Given the description of an element on the screen output the (x, y) to click on. 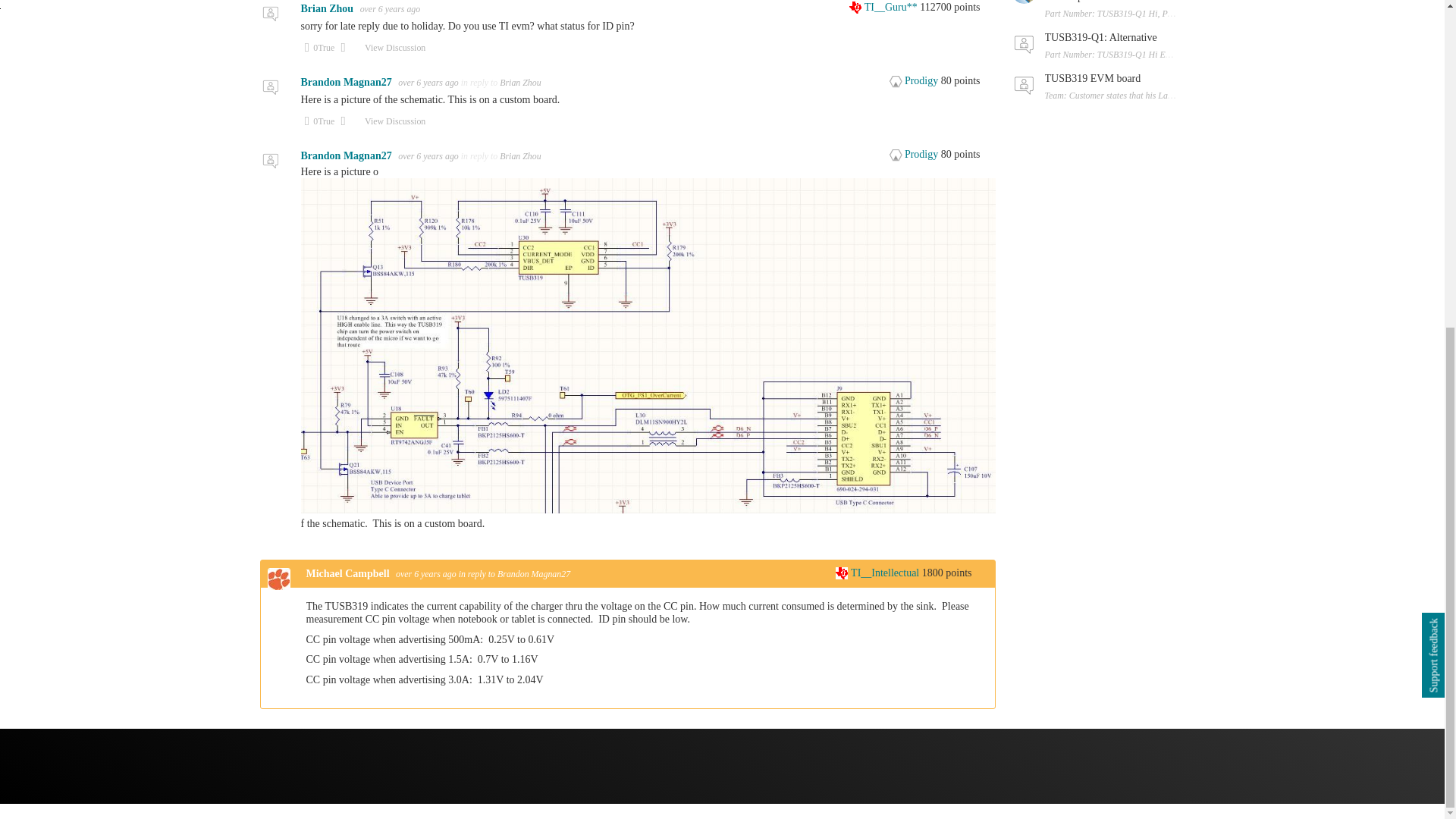
Click here for explanation of levels (914, 153)
Click here for explanation of levels (914, 80)
Click here for explanation of levels (884, 7)
Click here for explanation of levels (878, 572)
